Given the description of an element on the screen output the (x, y) to click on. 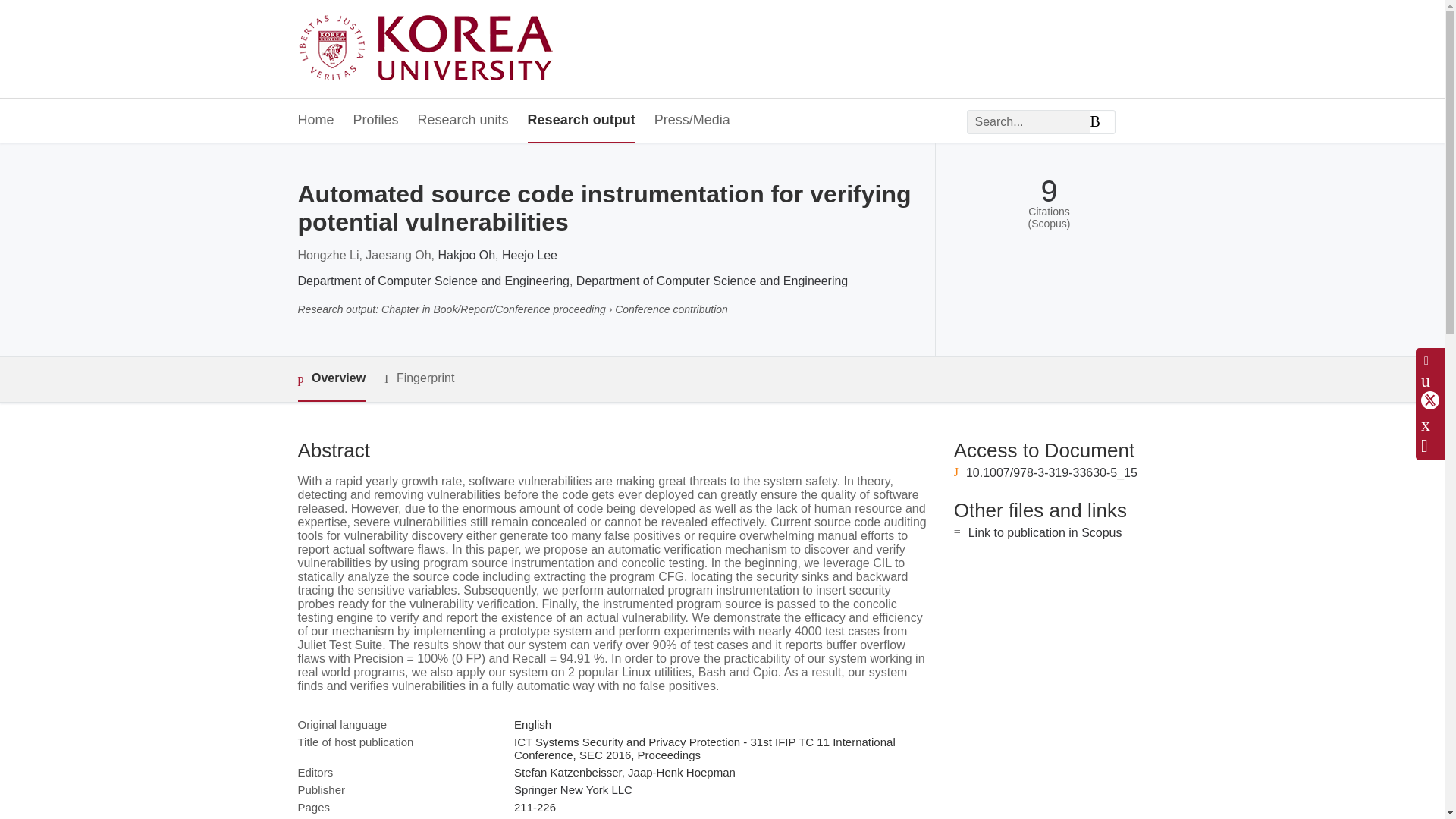
Link to publication in Scopus (1045, 532)
Research units (462, 120)
Research output (580, 120)
Overview (331, 379)
Springer New York LLC (572, 789)
Hakjoo Oh (467, 254)
Home (315, 120)
Heejo Lee (529, 254)
Department of Computer Science and Engineering (433, 280)
Korea University Home (429, 49)
9 (1049, 191)
Profiles (375, 120)
Fingerprint (419, 378)
Department of Computer Science and Engineering (711, 280)
